Given the description of an element on the screen output the (x, y) to click on. 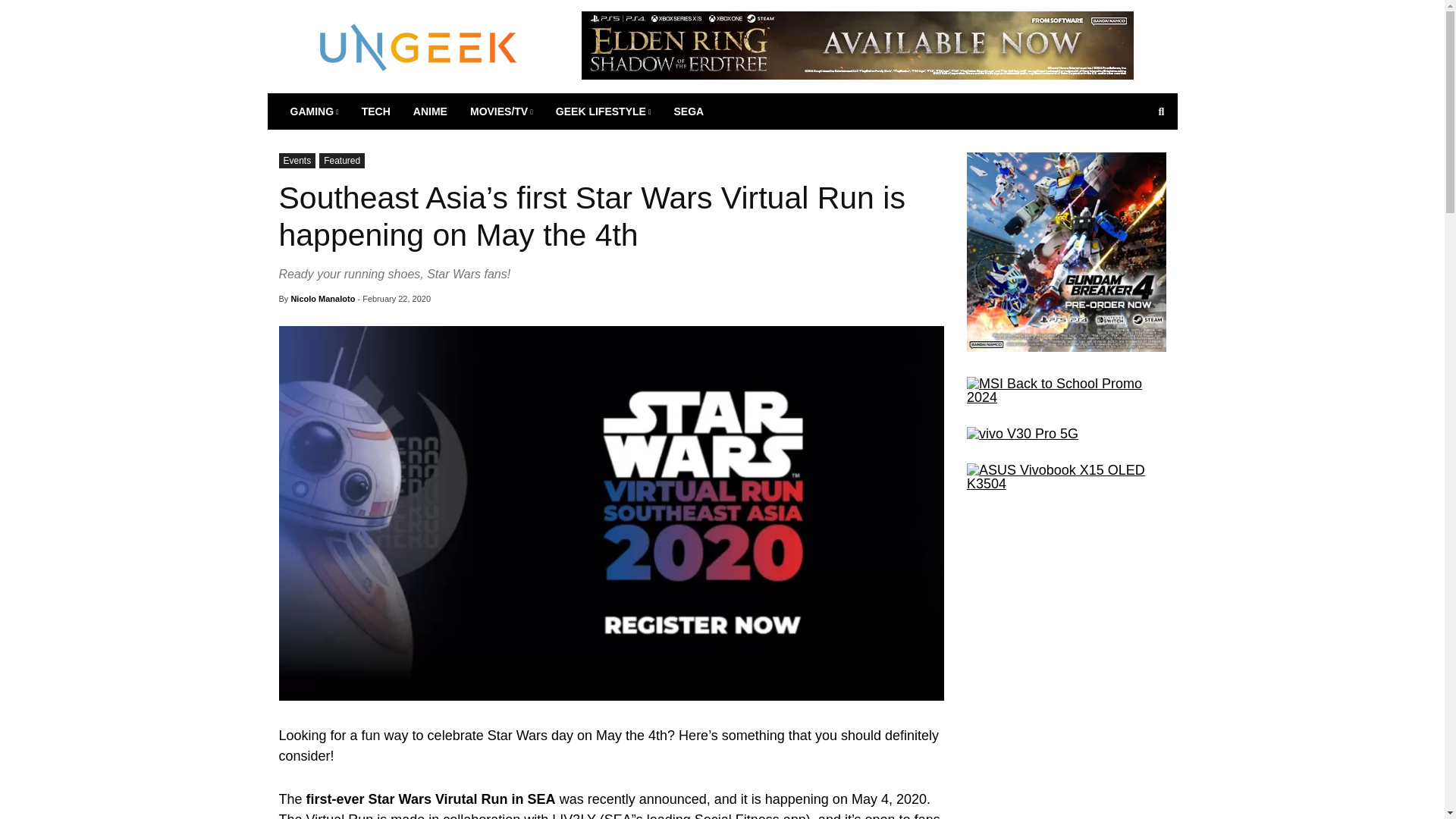
GAMING (314, 111)
UnGeek (419, 46)
Events (297, 160)
GEEK LIFESTYLE (603, 111)
Nicolo Manaloto (322, 298)
SEGA (689, 111)
February 22, 2020 (396, 298)
TECH (375, 111)
UnGeek (418, 46)
ANIME (429, 111)
